Given the description of an element on the screen output the (x, y) to click on. 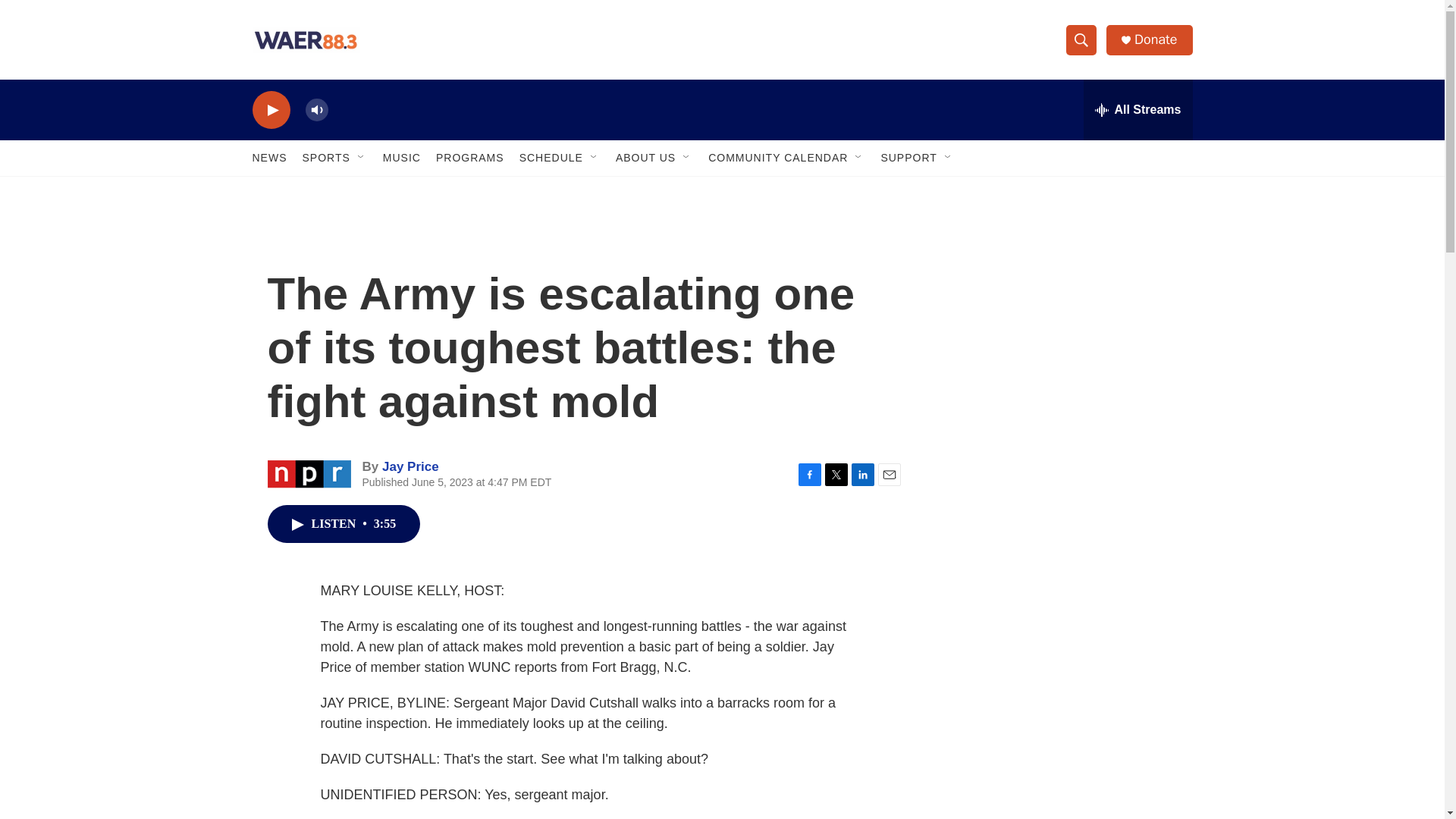
3rd party ad content (1062, 316)
3rd party ad content (1062, 536)
3rd party ad content (1062, 740)
